Given the description of an element on the screen output the (x, y) to click on. 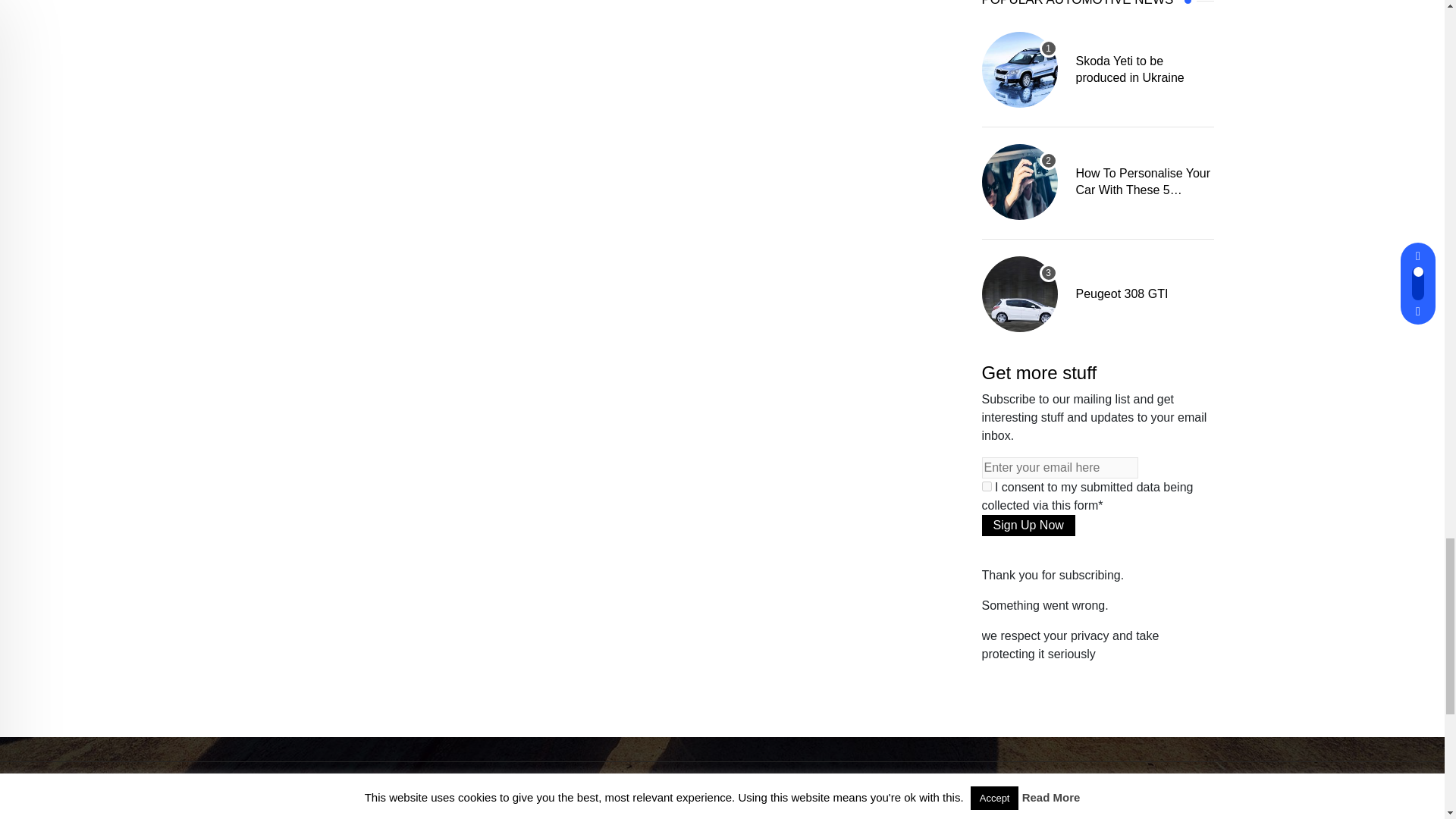
Sign Up Now (1027, 525)
Peugeot 308 GTI (1019, 294)
Skoda Yeti to be produced in Ukraine (1019, 69)
How To Personalise Your Car With These 5 Accessories (1019, 182)
on (986, 486)
